Given the description of an element on the screen output the (x, y) to click on. 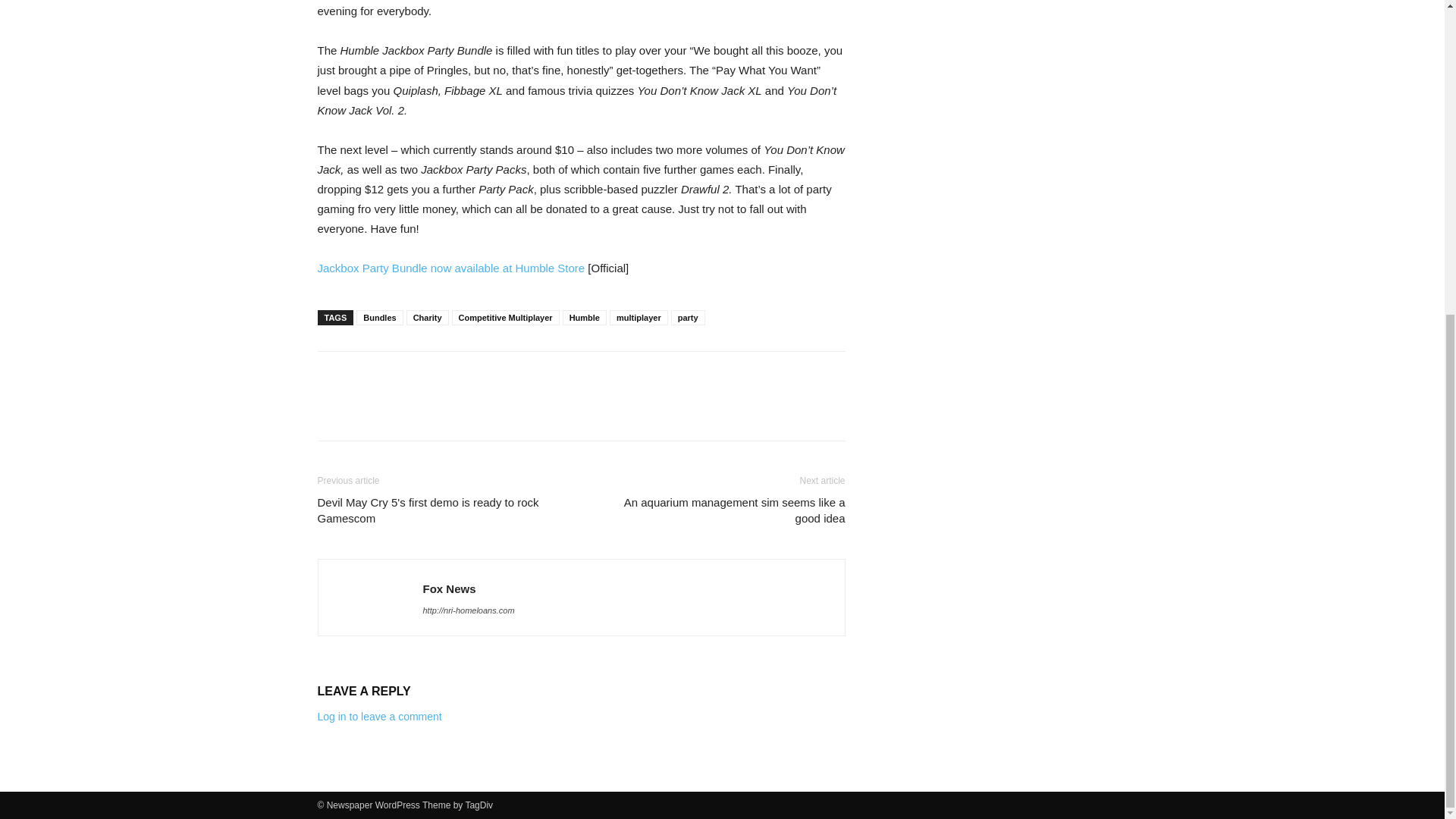
Jackbox Party Bundle now available at Humble Store (451, 267)
bottomFacebookLike (430, 375)
Bundles (379, 317)
Competitive Multiplayer (505, 317)
Devil May Cry 5's first demo is ready to rock Gamescom (439, 510)
party (687, 317)
An aquarium management sim seems like a good idea (721, 510)
Charity (427, 317)
Humble (584, 317)
multiplayer (639, 317)
